Given the description of an element on the screen output the (x, y) to click on. 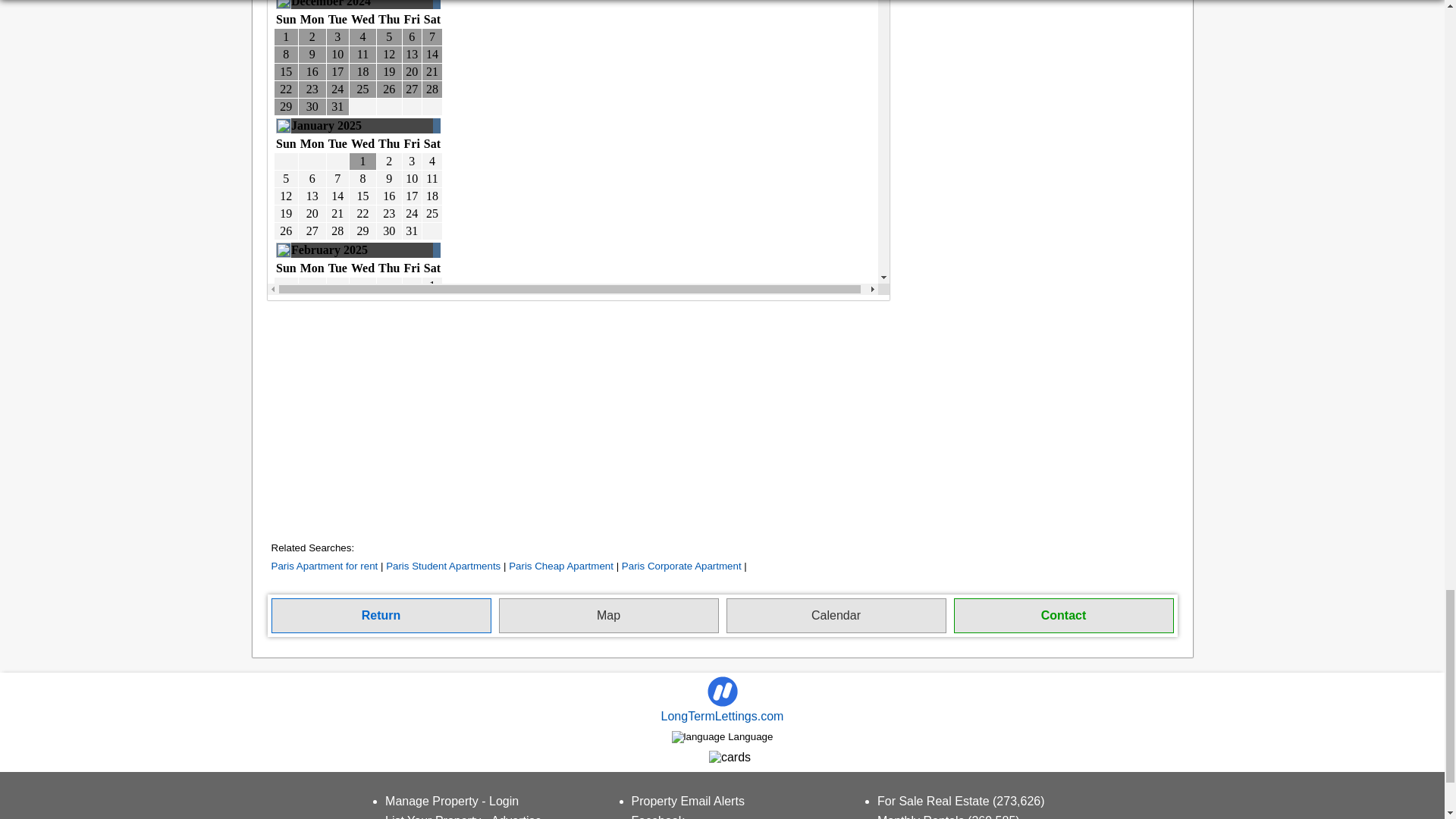
Paris Cheap Apartment (560, 565)
Paris Student Apartments (442, 565)
Paris Apartment for rent (324, 565)
